Given the description of an element on the screen output the (x, y) to click on. 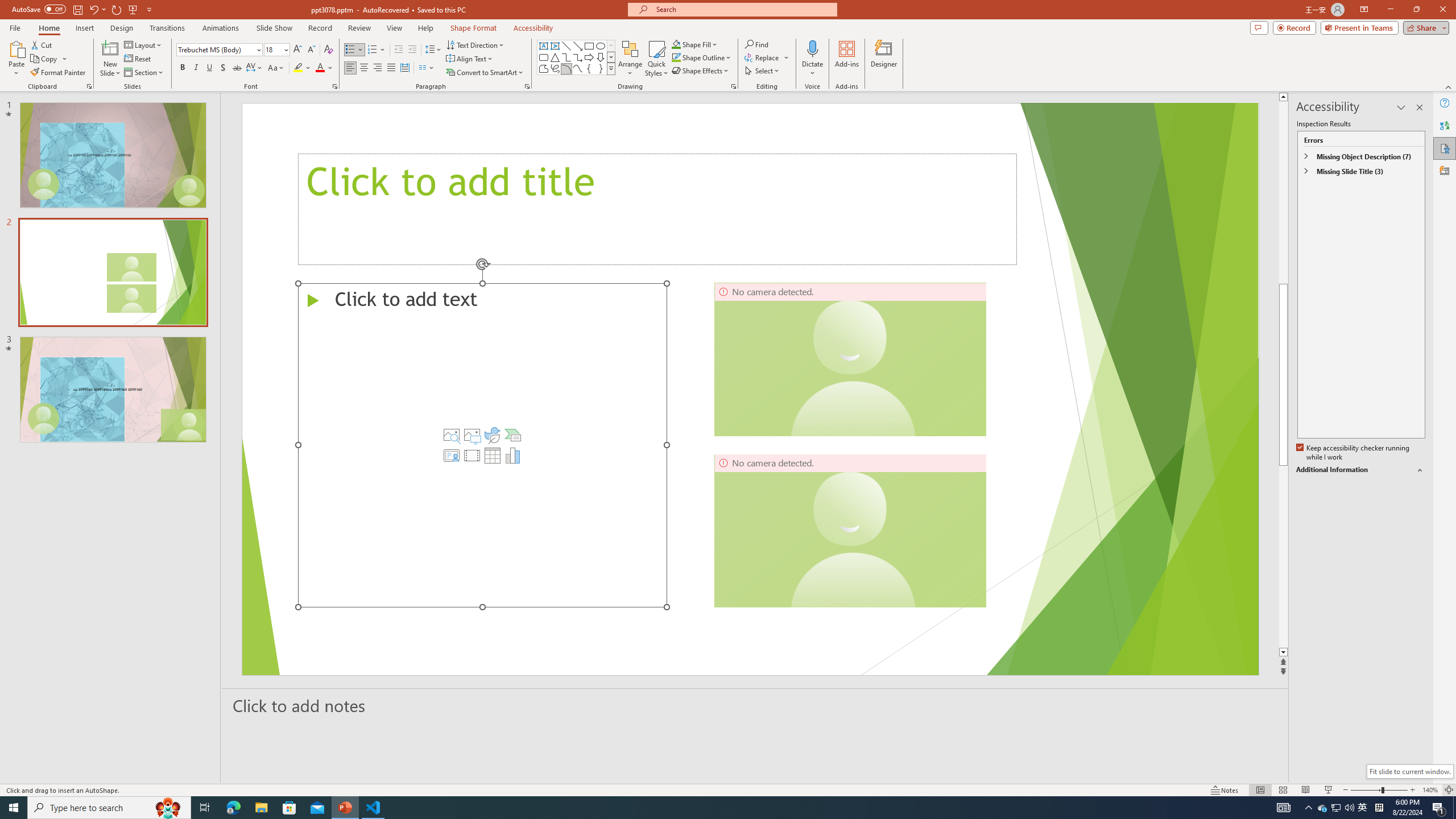
Zoom 140% (1430, 790)
